Given the description of an element on the screen output the (x, y) to click on. 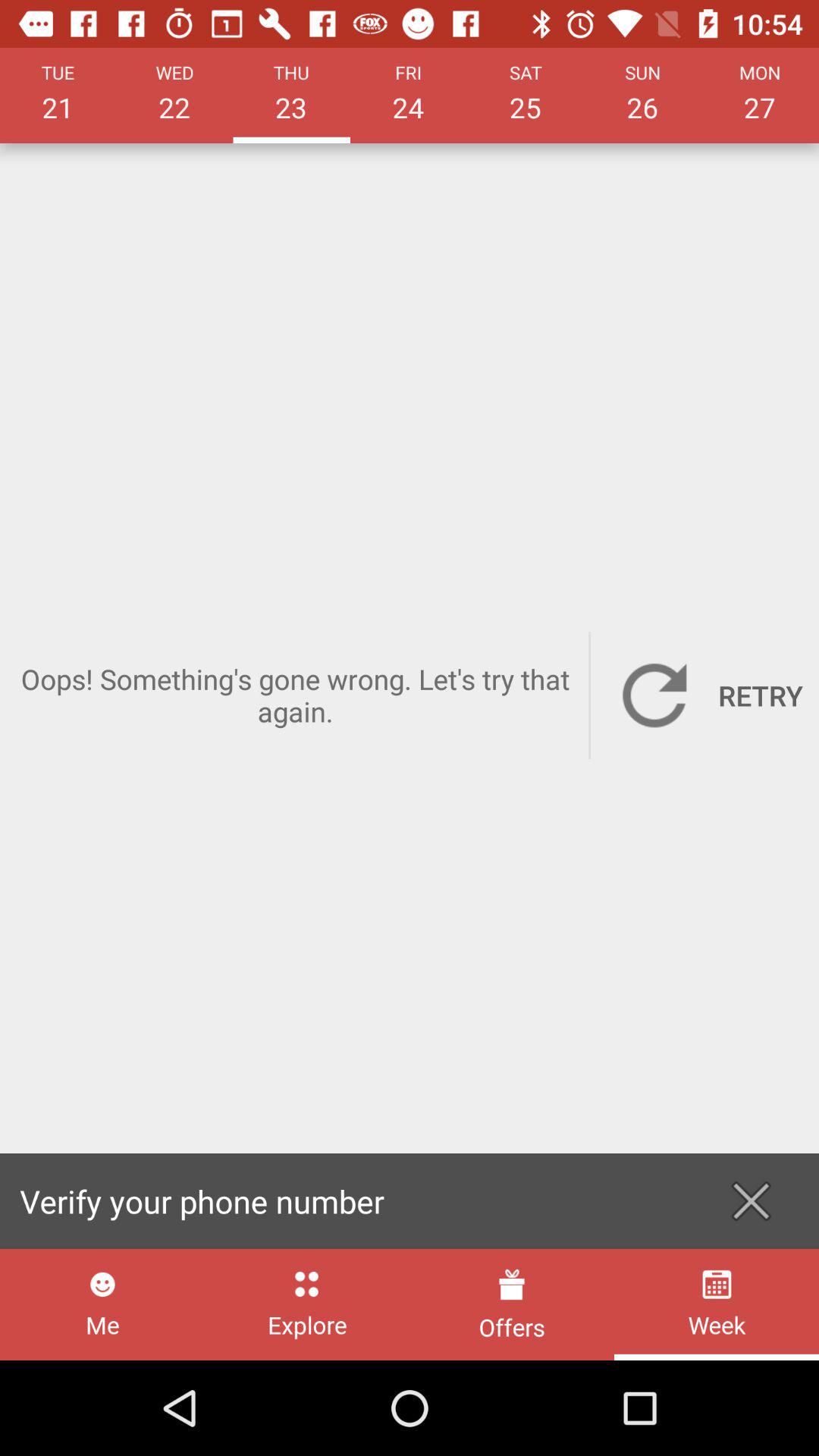
turn on item to the left of explore item (101, 1304)
